Given the description of an element on the screen output the (x, y) to click on. 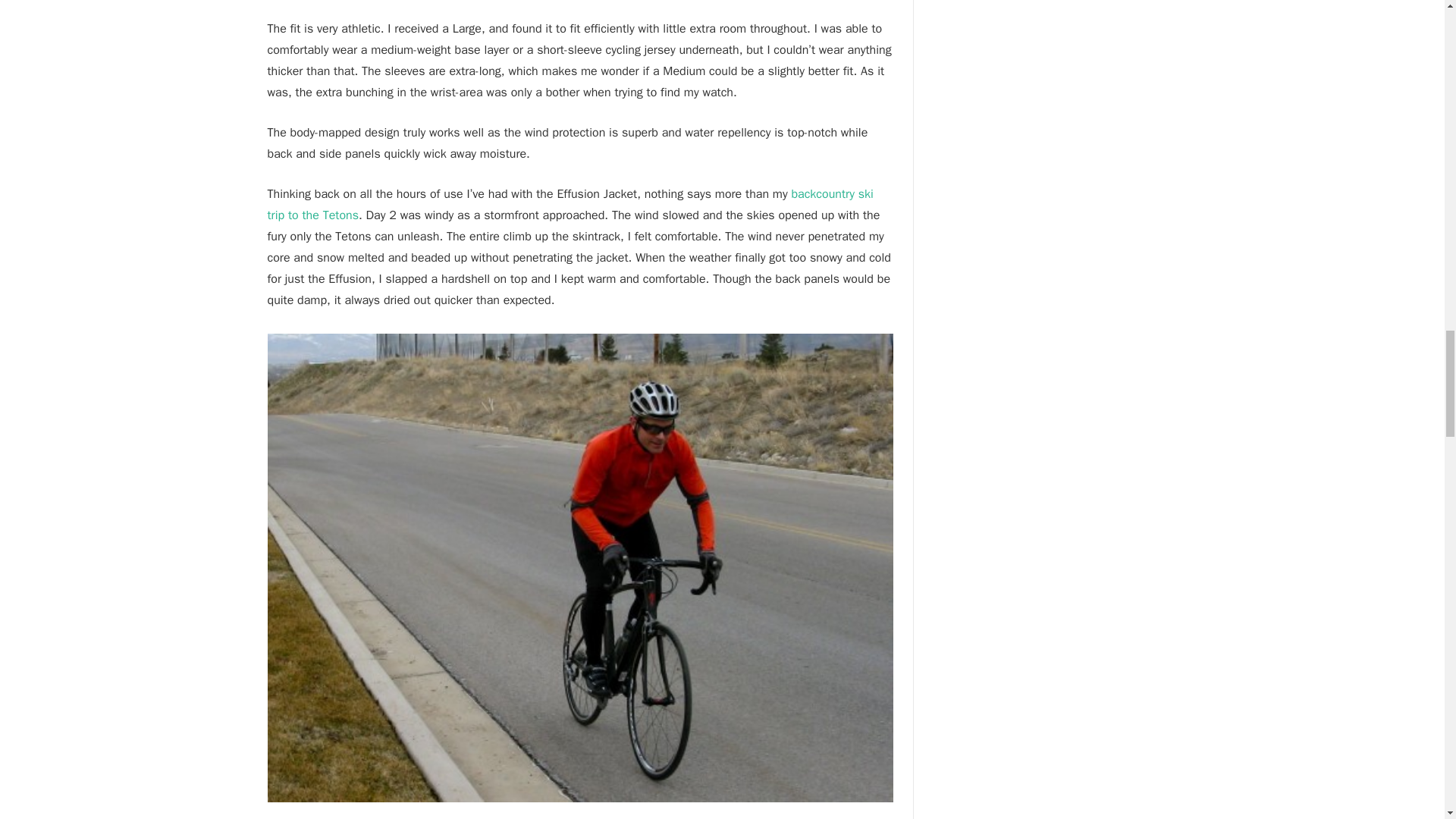
backcountry ski trip to the Tetons (569, 204)
